Given the description of an element on the screen output the (x, y) to click on. 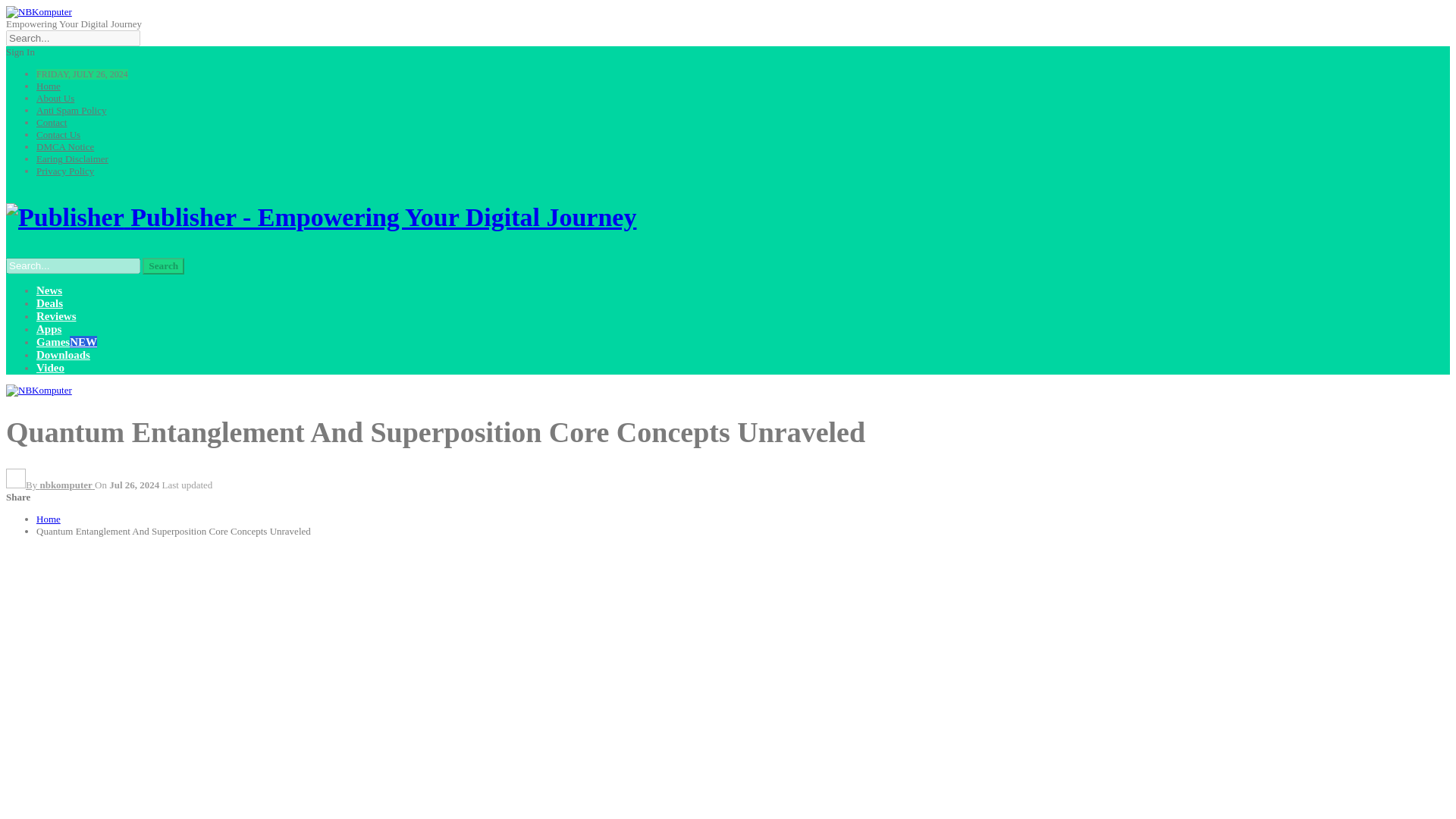
DMCA Notice (65, 146)
Search (163, 265)
Downloads (63, 354)
Anti Spam Policy (71, 110)
Search (163, 265)
News (49, 290)
Privacy Policy (65, 170)
Contact (51, 122)
Video (50, 367)
Publisher - Empowering Your Digital Journey (320, 216)
Reviews (56, 316)
By nbkomputer (49, 484)
About Us (55, 98)
Apps (48, 328)
Deals (49, 303)
